Given the description of an element on the screen output the (x, y) to click on. 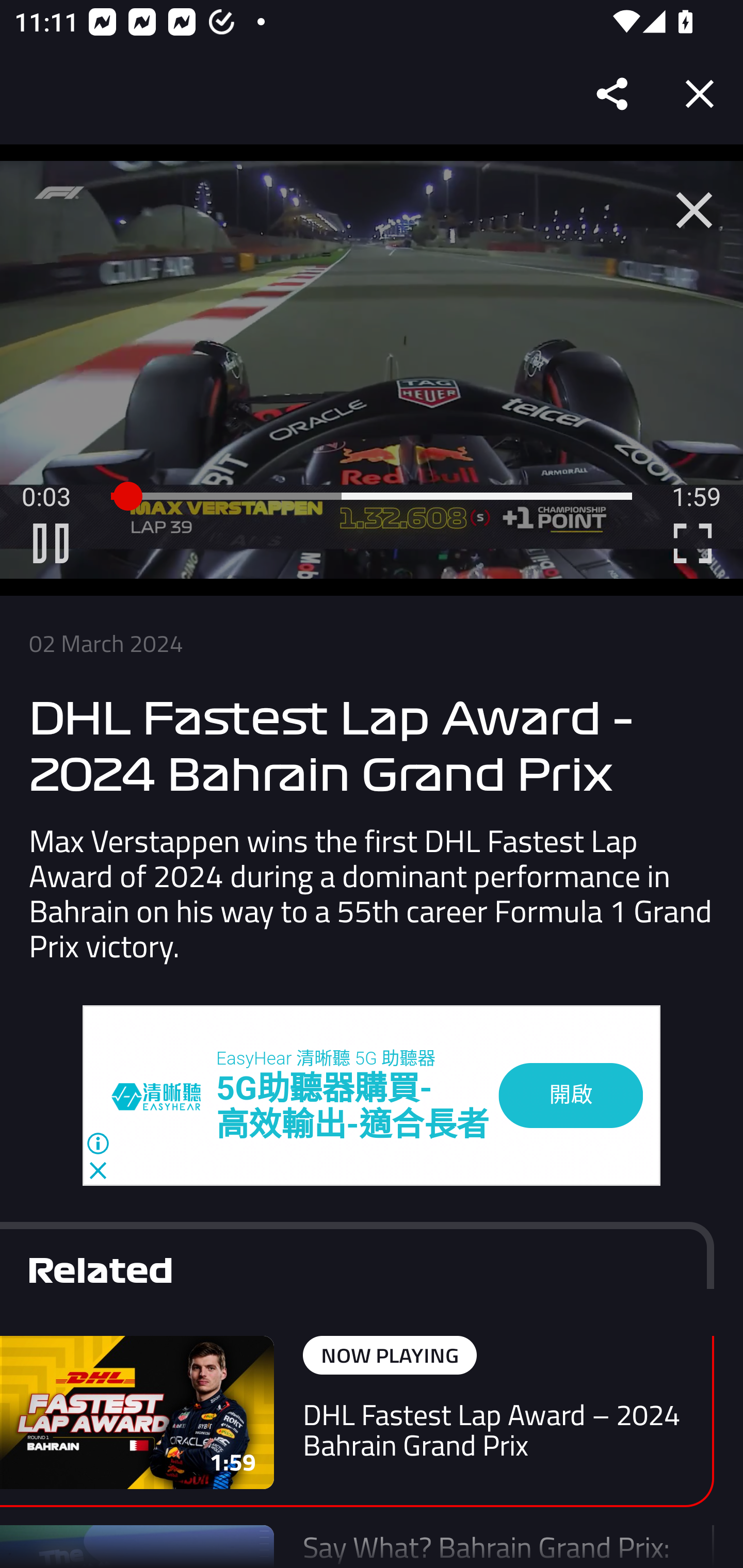
Share (612, 93)
Close (699, 93)
 Close (693, 210)
B Pause (50, 543)
C Enter Fullscreen (692, 543)
EasyHear 清晰聽 5G 助聽器 (326, 1057)
easyhear.com (163, 1095)
開啟 (570, 1095)
5G助聽器購買- 高效輸出-適合長者 5G助聽器購買- 高效輸出-適合長者 (353, 1107)
